Given the description of an element on the screen output the (x, y) to click on. 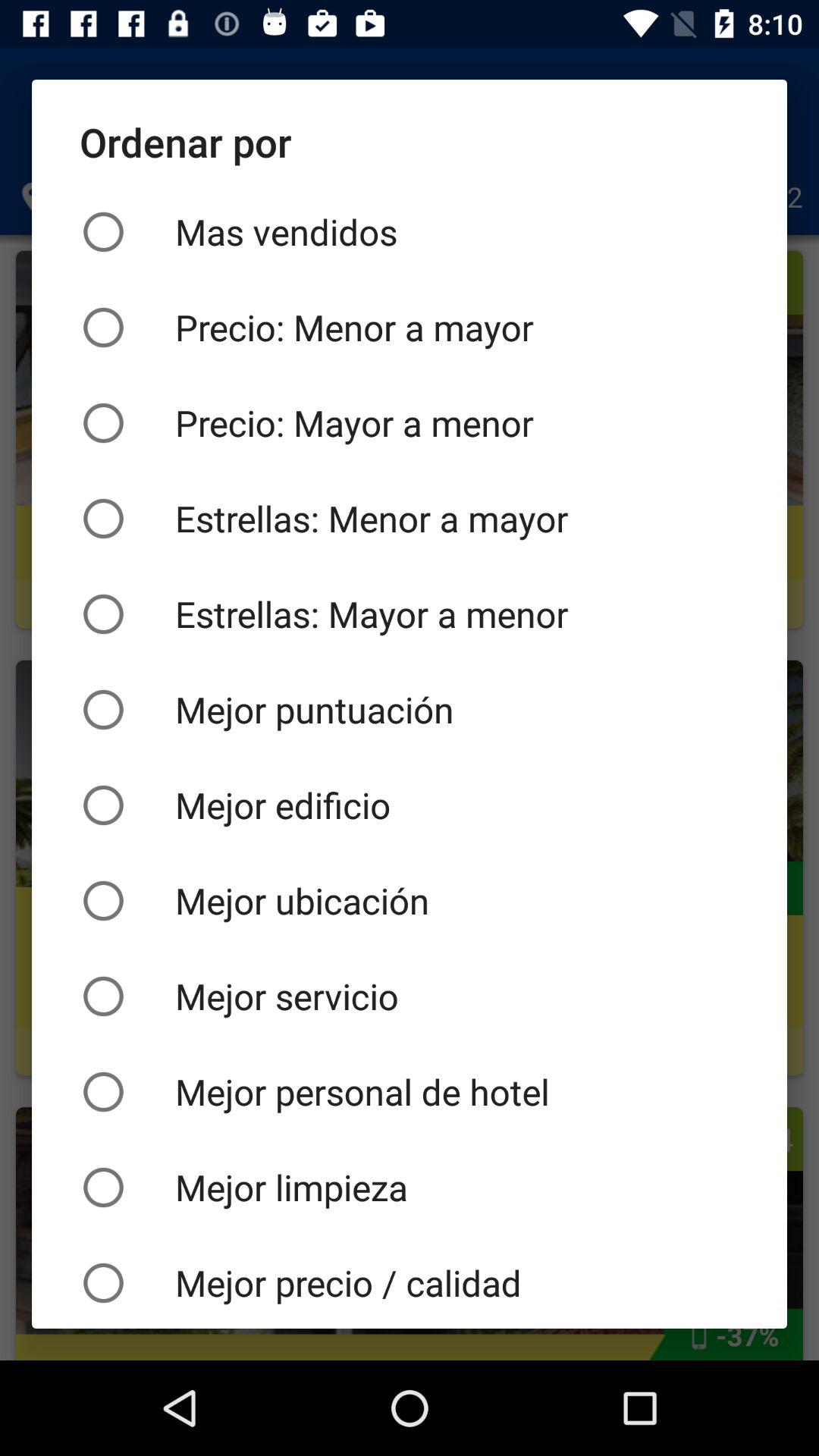
choose item below mejor servicio (409, 1091)
